Given the description of an element on the screen output the (x, y) to click on. 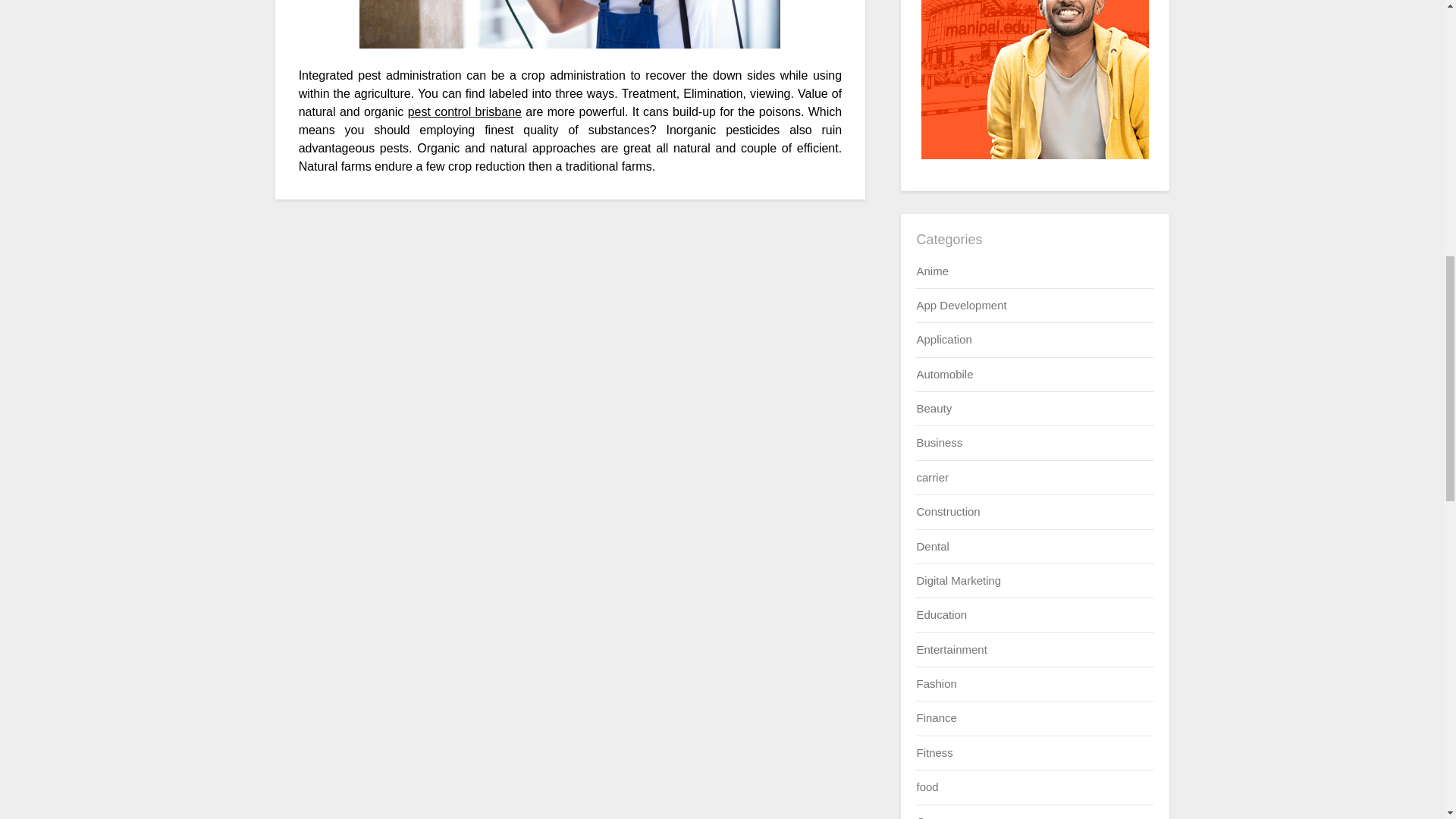
pest control brisbane (464, 111)
Anime (932, 269)
carrier (932, 477)
Digital Marketing (958, 580)
Automobile (943, 373)
App Development (960, 305)
Fashion (935, 683)
Application (943, 338)
Business (938, 441)
Entertainment (951, 649)
food (926, 786)
Construction (947, 511)
Games (933, 816)
Dental (932, 545)
Fitness (933, 752)
